Given the description of an element on the screen output the (x, y) to click on. 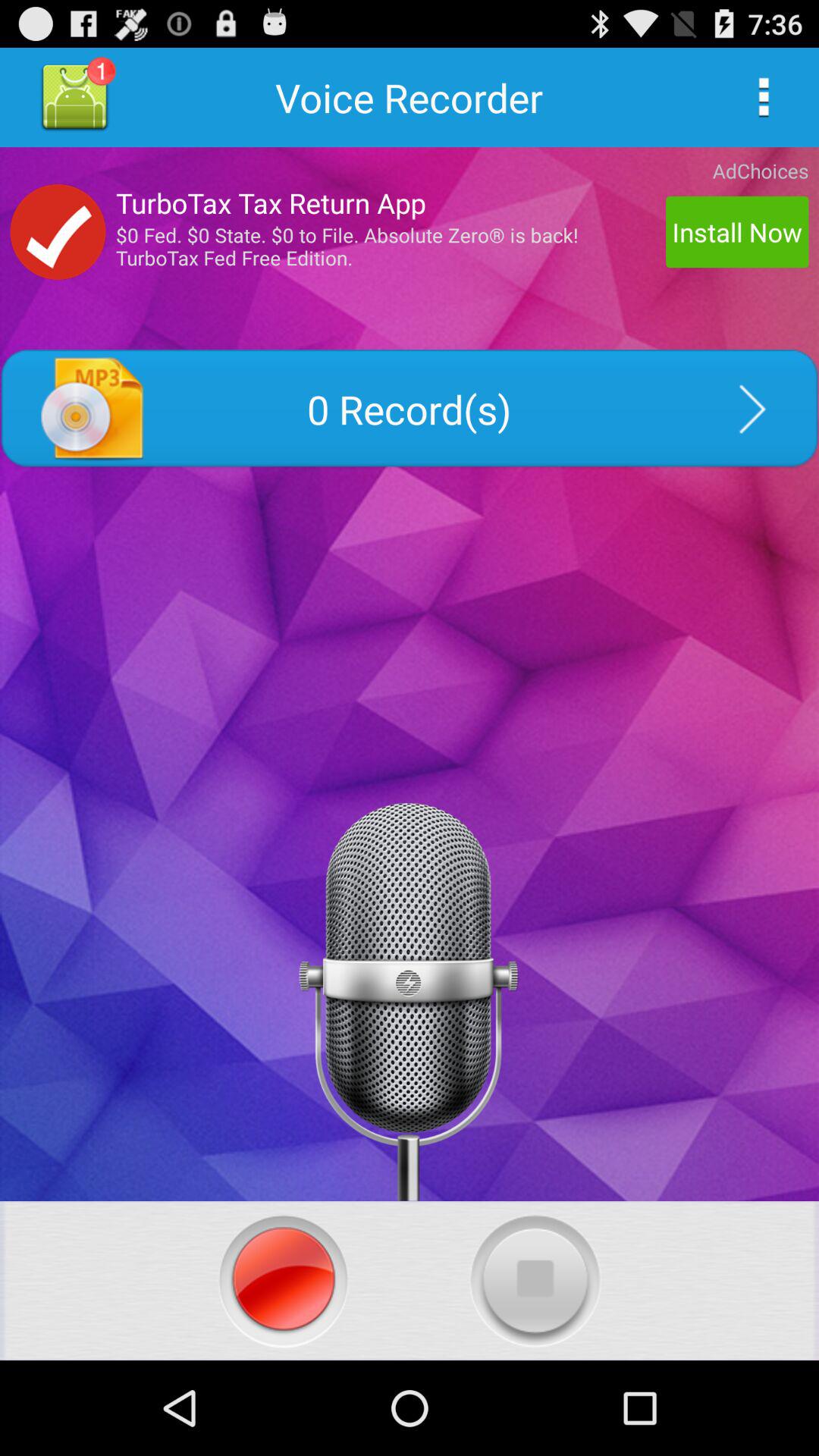
main menu (763, 97)
